Given the description of an element on the screen output the (x, y) to click on. 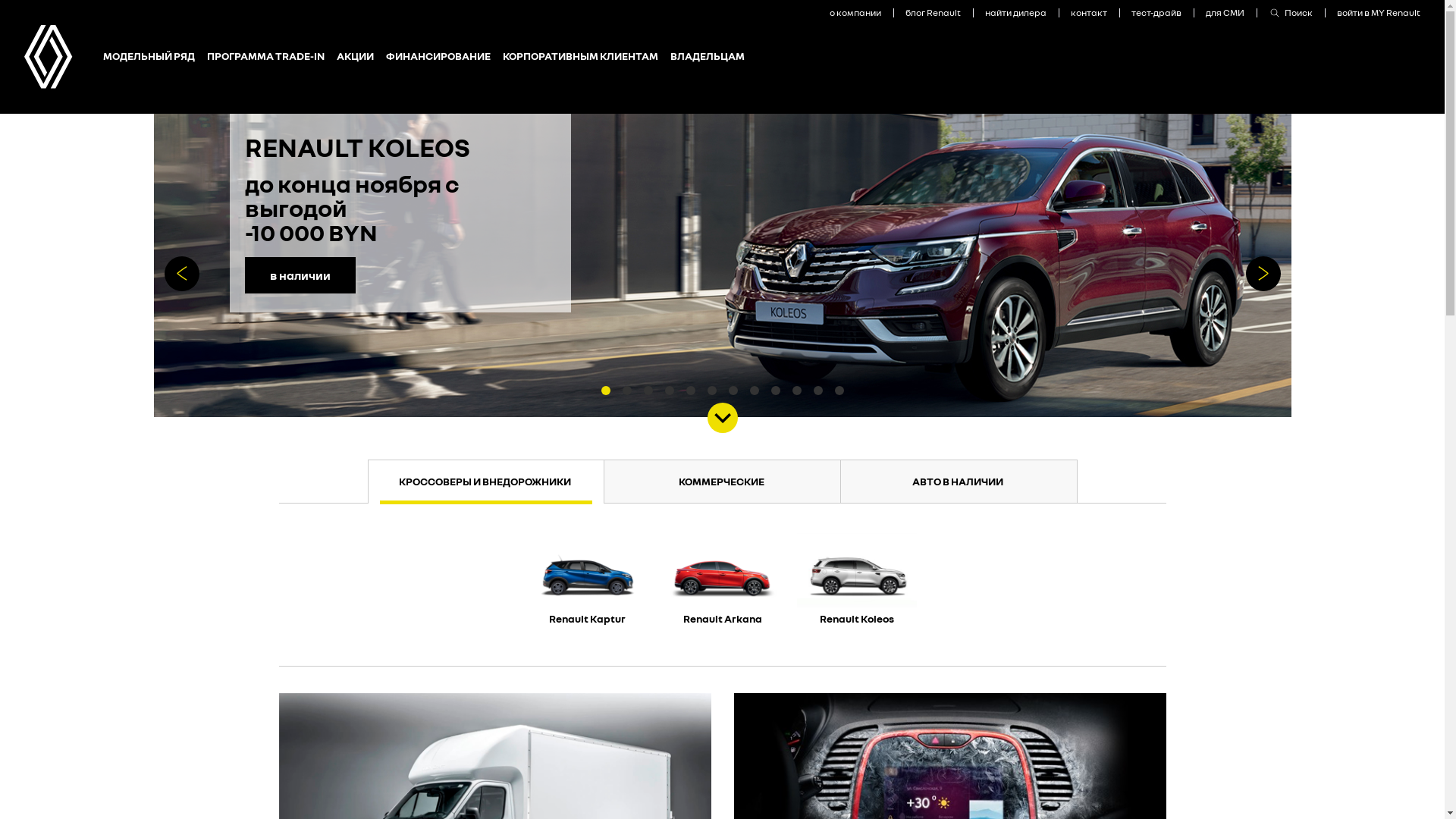
Renault Kaptur Element type: text (587, 585)
Renault Koleos Element type: text (856, 585)
Renault Arkana Element type: text (722, 585)
